Given the description of an element on the screen output the (x, y) to click on. 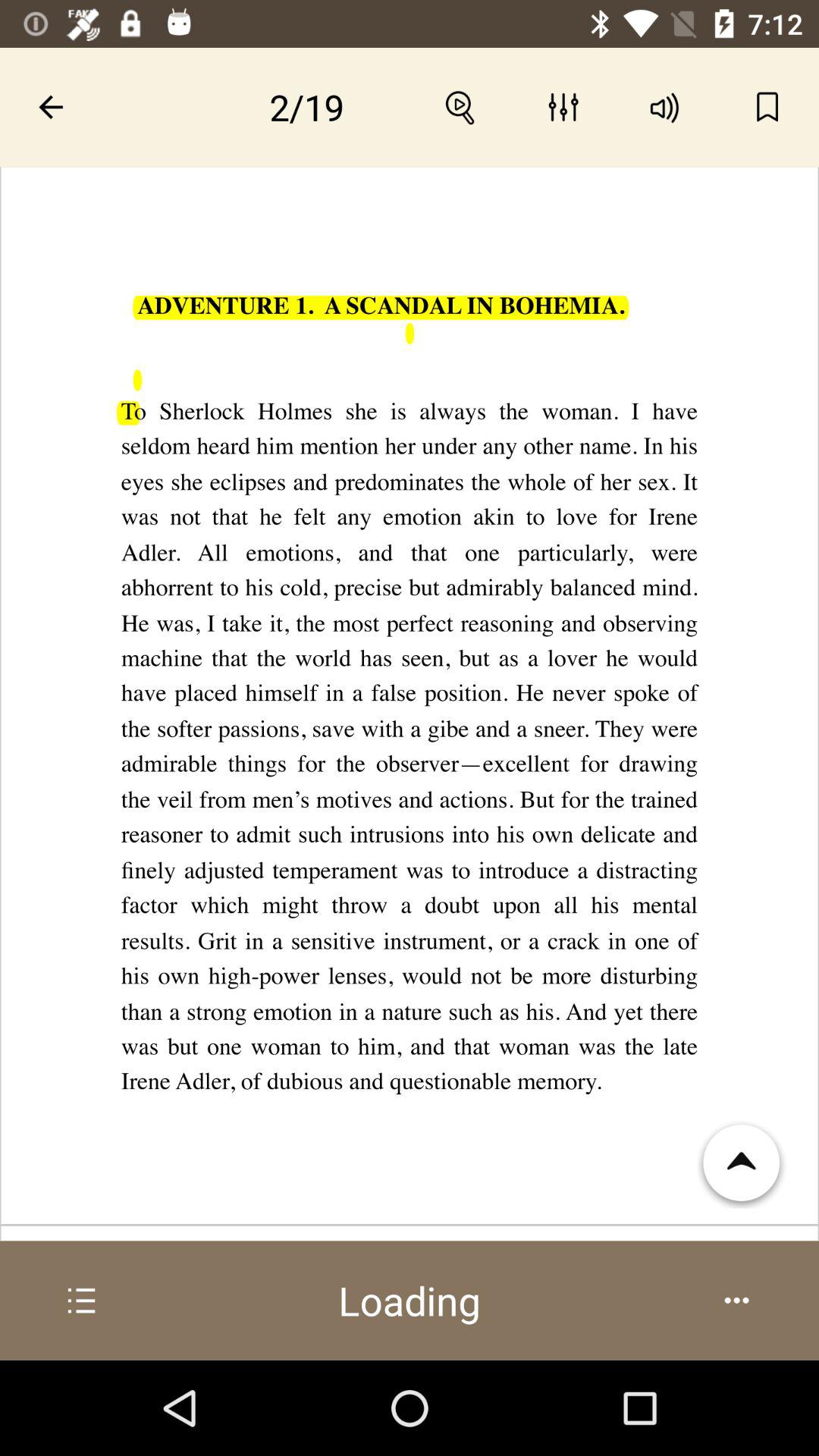
page 2 out of 19 (306, 106)
